Given the description of an element on the screen output the (x, y) to click on. 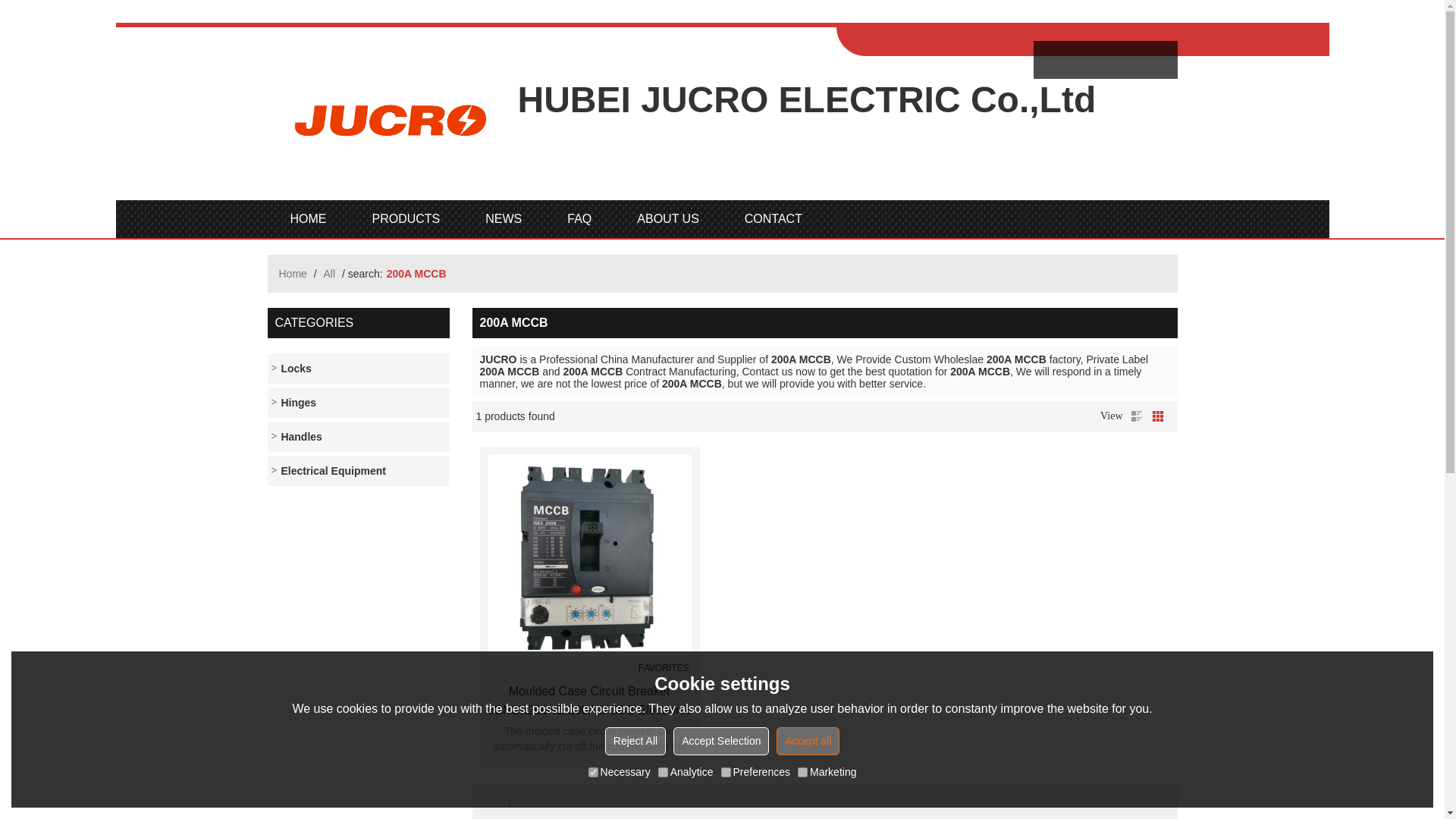
on (593, 772)
Home (293, 273)
FAQ (579, 218)
NEWS (503, 218)
Locks (357, 368)
HOME (308, 218)
List (1135, 416)
Handles (357, 436)
CONTACT (773, 218)
Electrical Equipment (357, 470)
FAQ (579, 218)
on (663, 772)
Hinges (357, 402)
NEWS (503, 218)
